Given the description of an element on the screen output the (x, y) to click on. 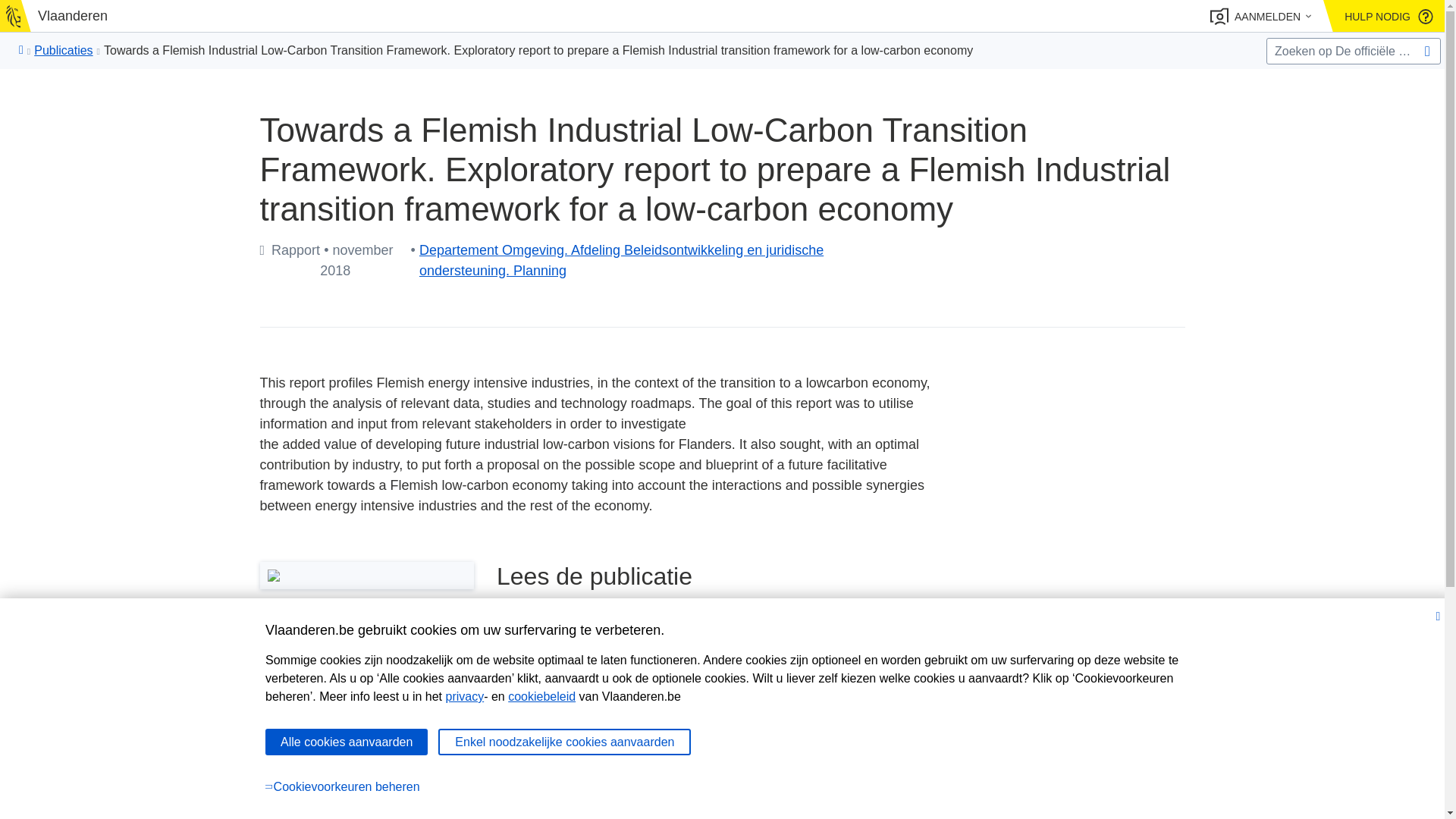
Alle cookies aanvaarden (346, 741)
Enkel noodzakelijke cookies aanvaarden (564, 741)
Zoeken (1427, 49)
Rapport (758, 738)
Vlaanderen (61, 16)
cookiebeleid (541, 696)
Overslaan en naar de inhoud gaan (729, 17)
Publicaties (63, 50)
AANMELDEN (1260, 16)
privacy (464, 696)
Cookievoorkeuren beheren (727, 787)
Zoekterm (1353, 50)
